Given the description of an element on the screen output the (x, y) to click on. 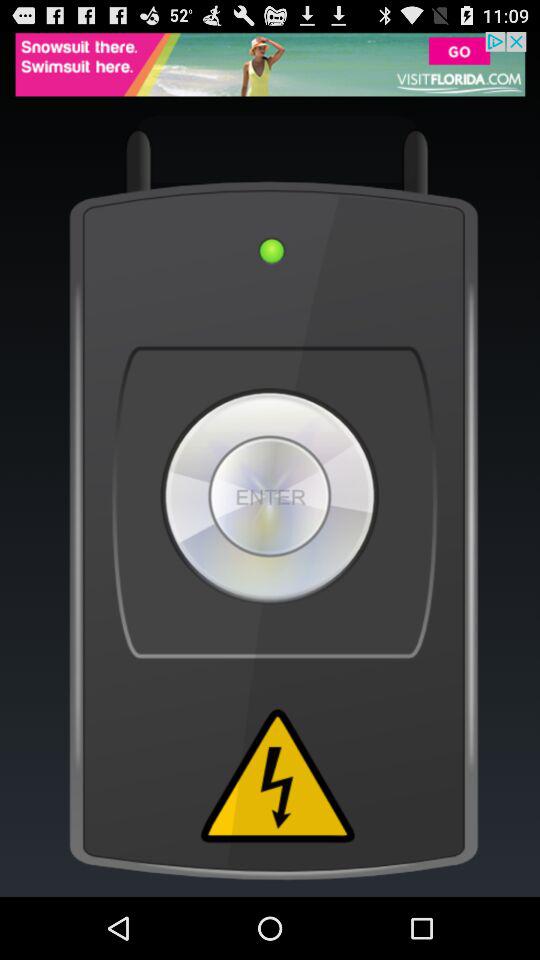
advertisement banner (270, 64)
